Given the description of an element on the screen output the (x, y) to click on. 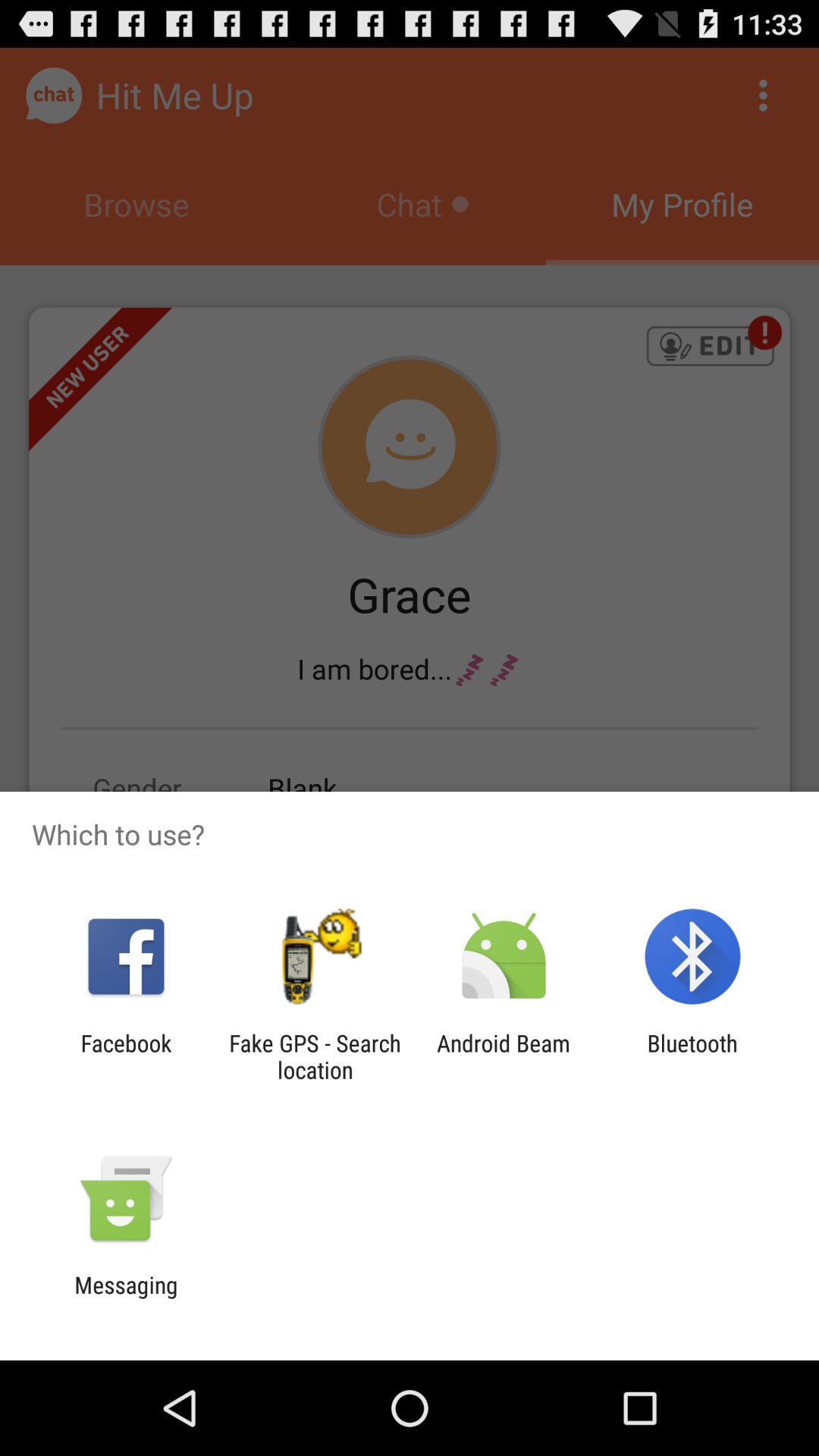
scroll until the bluetooth item (692, 1056)
